Given the description of an element on the screen output the (x, y) to click on. 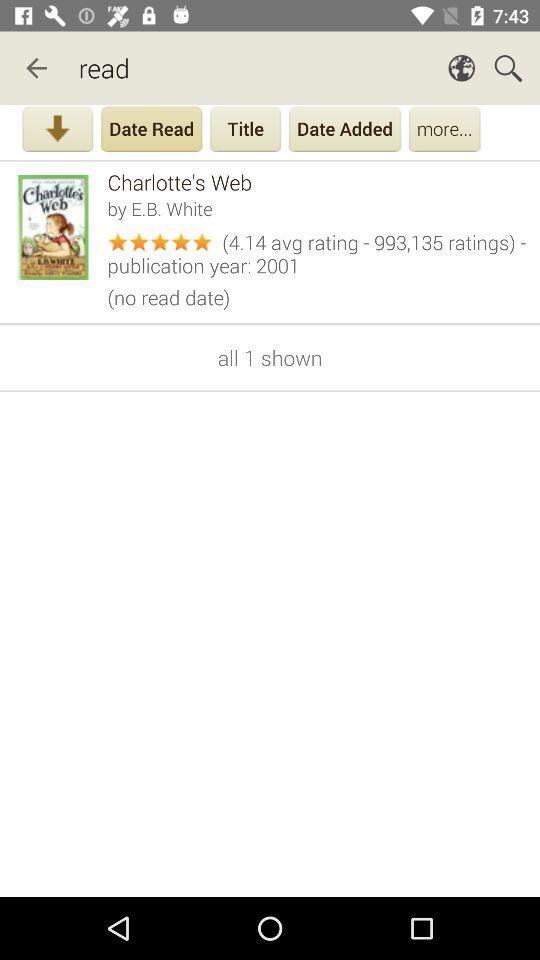
turn off by e b item (316, 208)
